Given the description of an element on the screen output the (x, y) to click on. 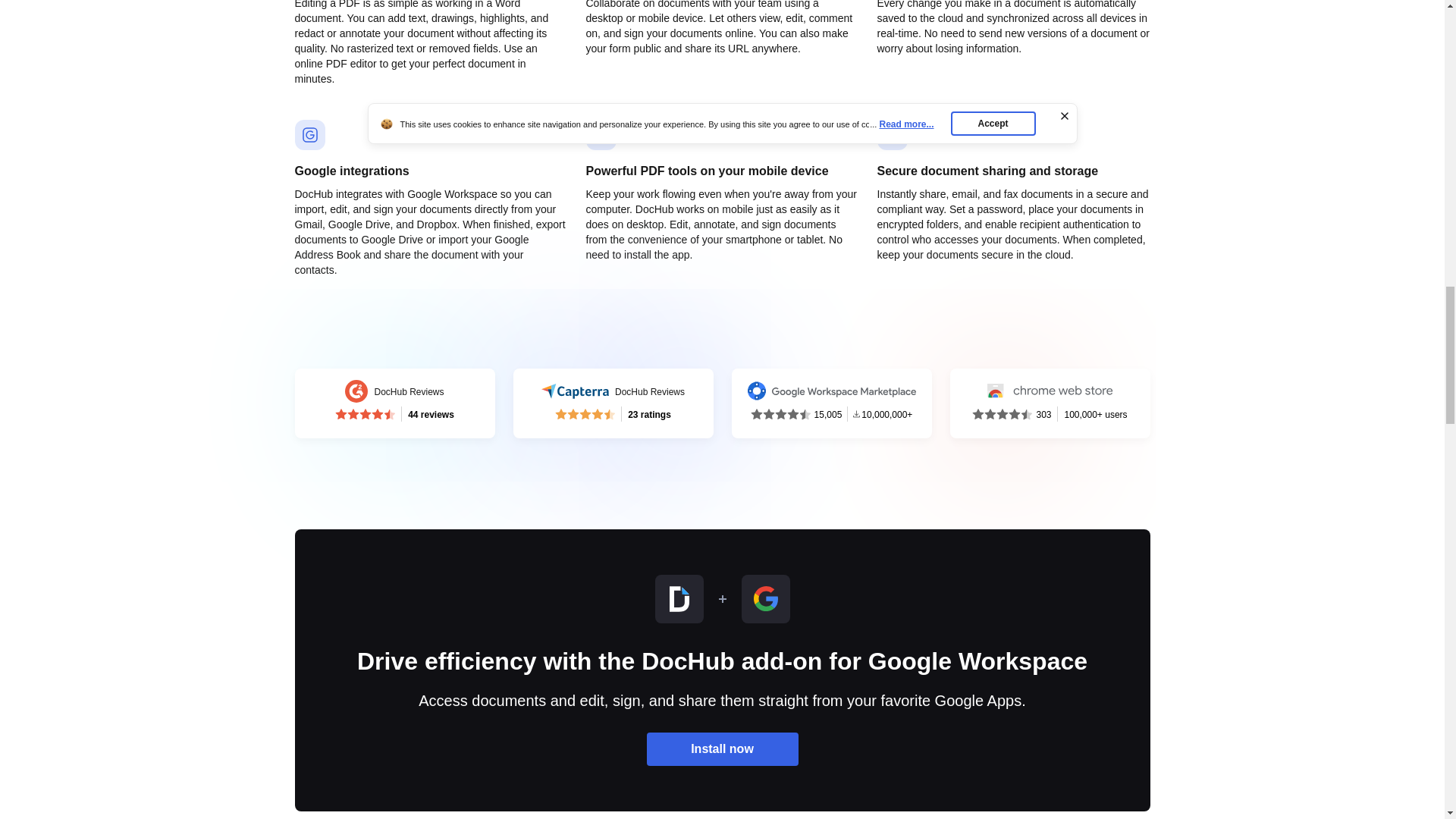
Install now (612, 403)
